Given the description of an element on the screen output the (x, y) to click on. 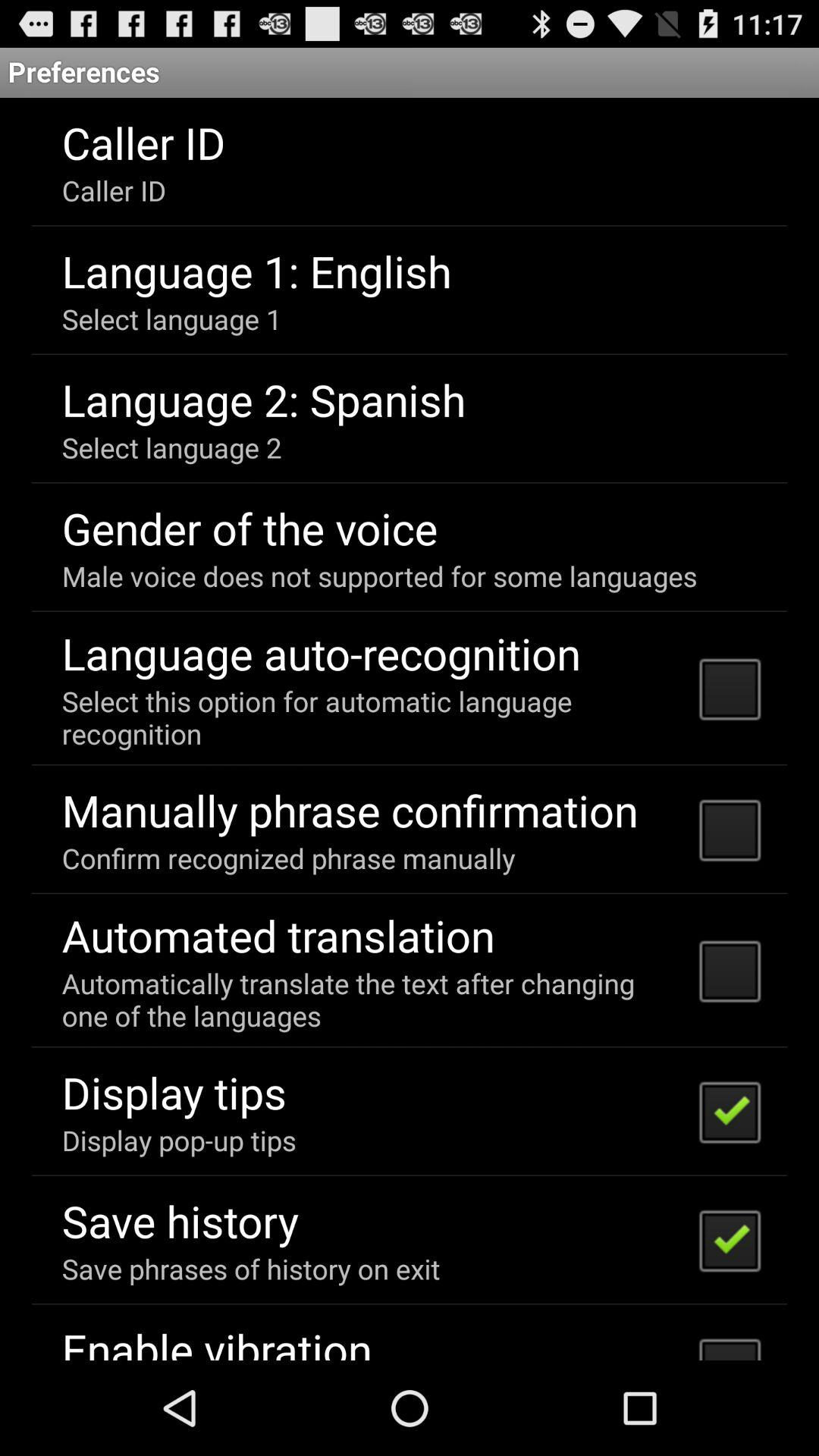
tap the enable vibration item (216, 1340)
